Given the description of an element on the screen output the (x, y) to click on. 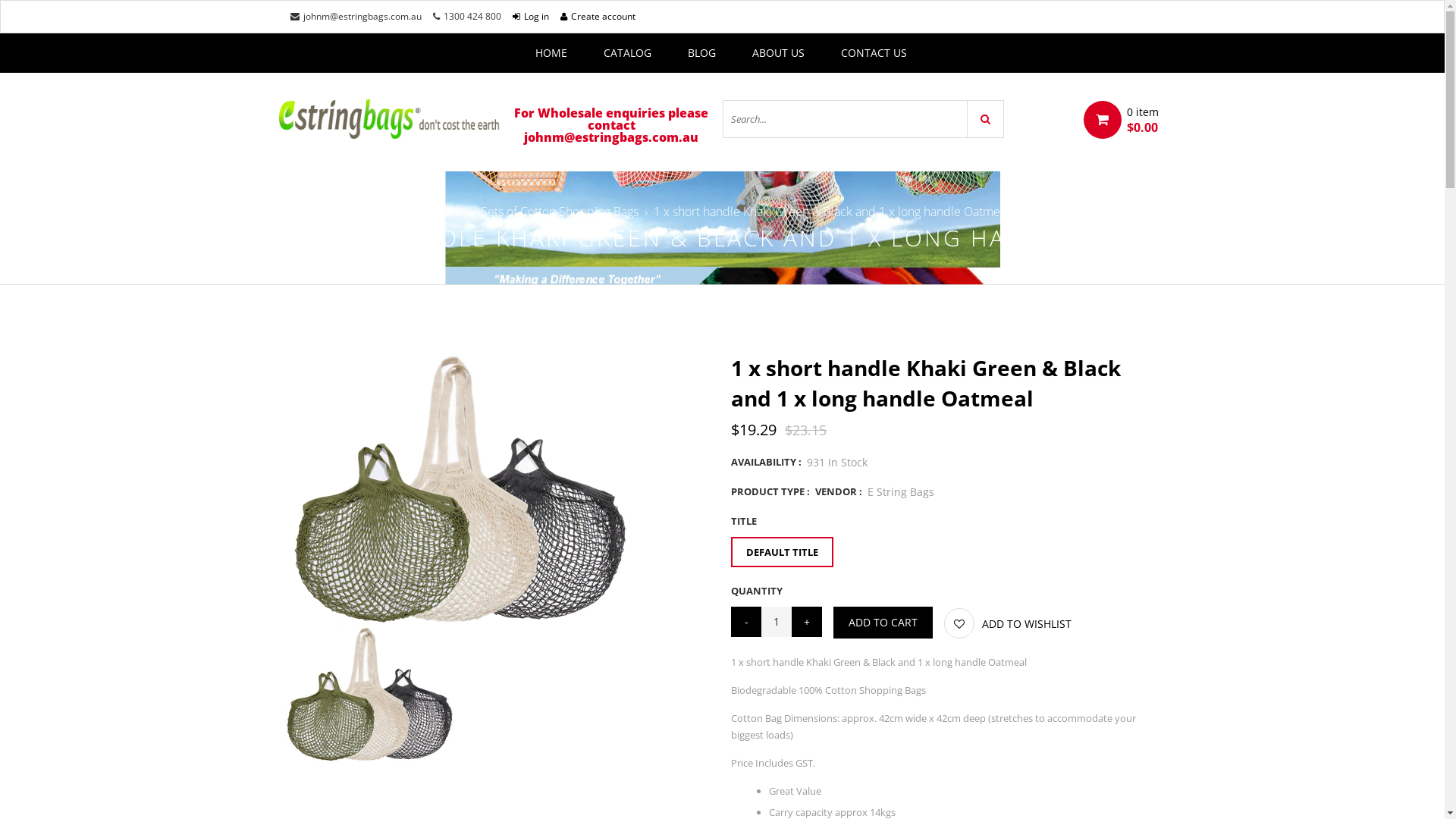
ADD TO CART Element type: text (882, 622)
ABOUT US Element type: text (778, 52)
HOME Element type: text (551, 52)
Sets of Cotton Shopping Bags Element type: text (560, 211)
ADD TO WISHLIST Element type: text (1007, 623)
Create account Element type: text (596, 15)
CONTACT US Element type: text (873, 52)
SEARCH Element type: text (985, 119)
Home Element type: text (449, 211)
BLOG Element type: text (700, 52)
CATALOG Element type: text (627, 52)
Log in Element type: text (530, 15)
